Given the description of an element on the screen output the (x, y) to click on. 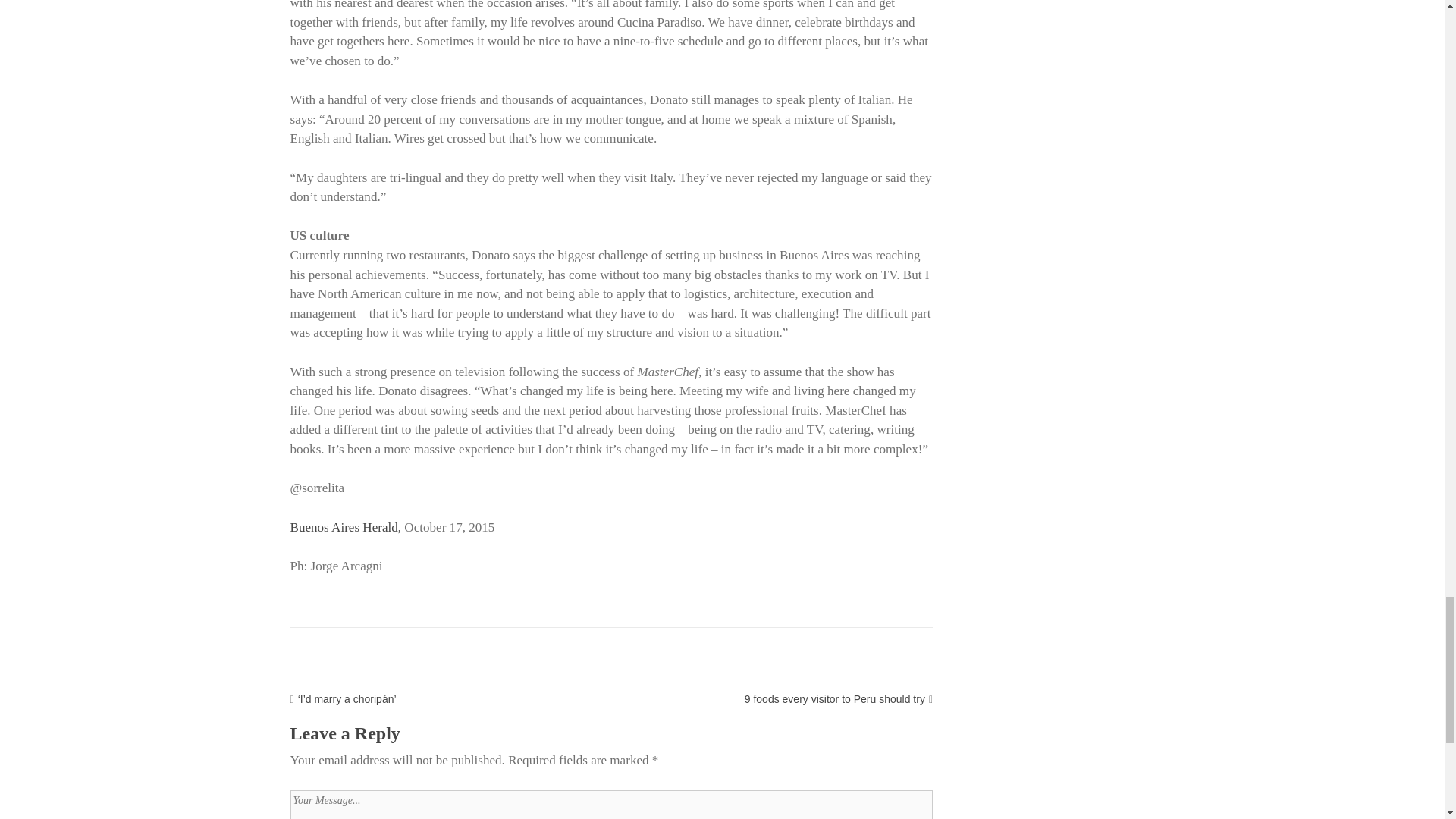
Buenos Aires Herald, (345, 527)
9 foods every visitor to Peru should try (834, 698)
